Given the description of an element on the screen output the (x, y) to click on. 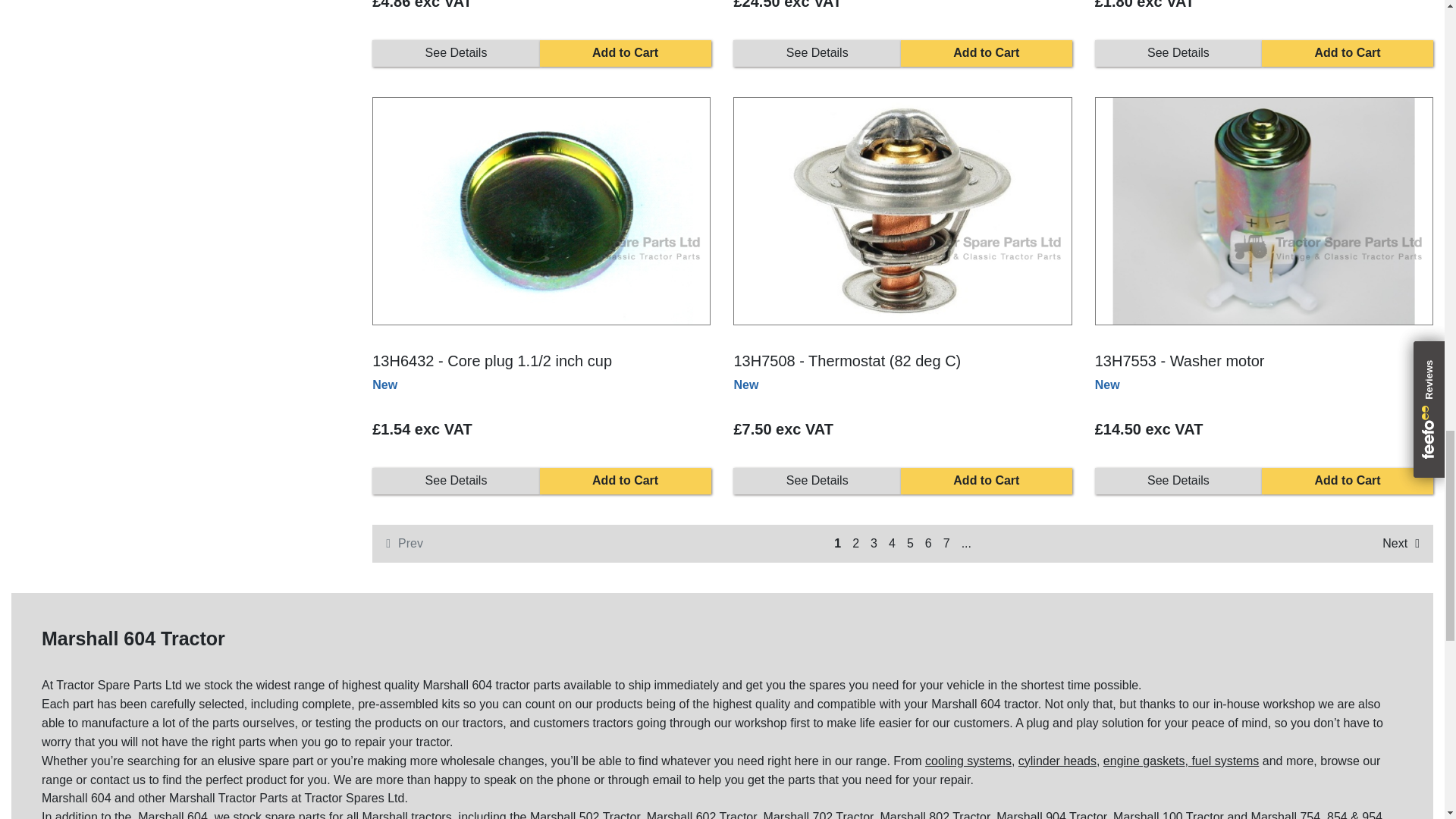
Marshall 602 tractor (703, 814)
